Given the description of an element on the screen output the (x, y) to click on. 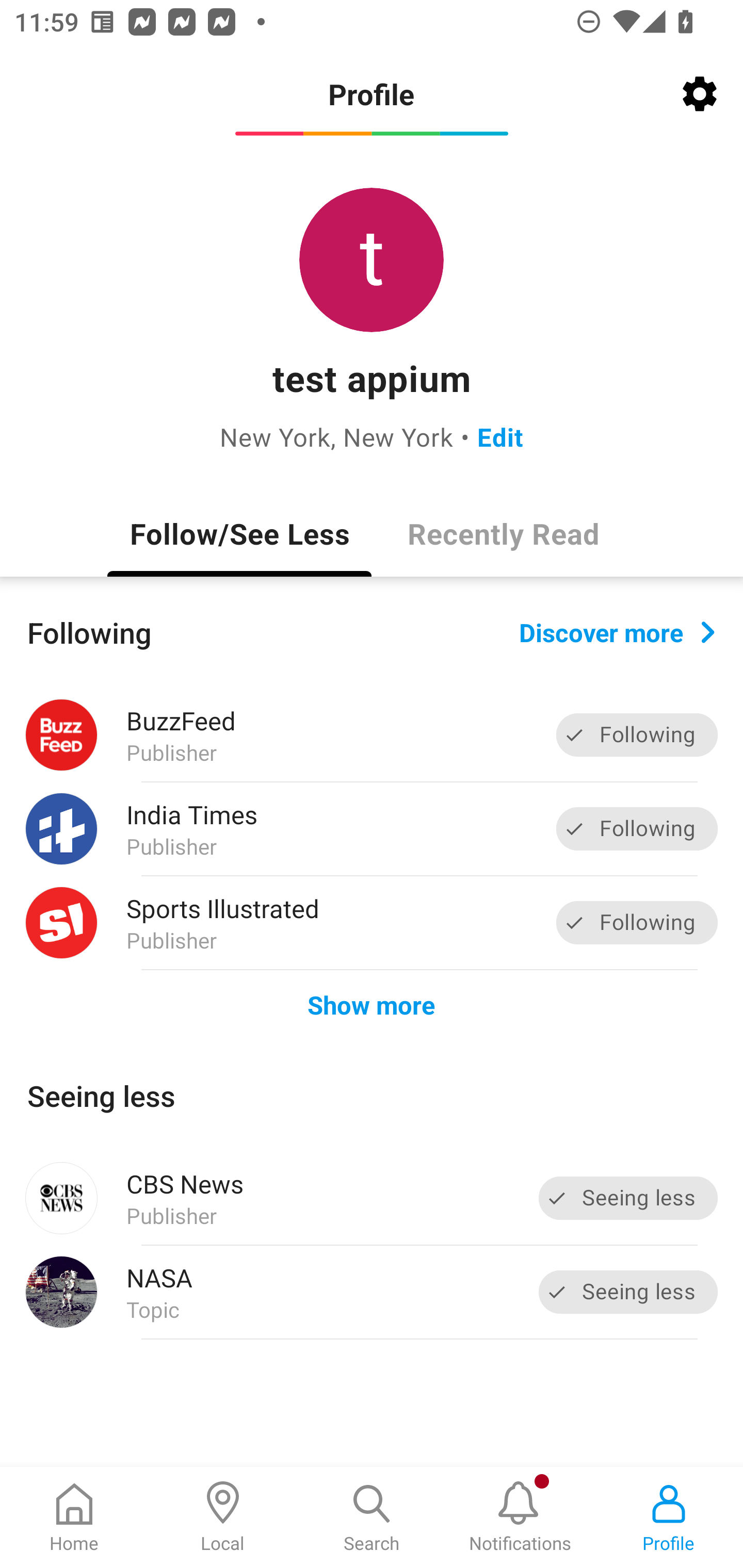
Settings (699, 93)
Edit (500, 436)
Recently Read (503, 533)
Discover more (617, 631)
BuzzFeed Publisher Following (371, 735)
Following (636, 735)
India Times Publisher Following (371, 829)
Following (636, 828)
Sports Illustrated Publisher Following (371, 922)
Following (636, 922)
Show more (371, 1004)
CBS News Publisher Seeing less (371, 1197)
Seeing less (627, 1197)
NASA Topic Seeing less (371, 1291)
Seeing less (627, 1291)
Home (74, 1517)
Local (222, 1517)
Search (371, 1517)
Notifications, New notification Notifications (519, 1517)
